Given the description of an element on the screen output the (x, y) to click on. 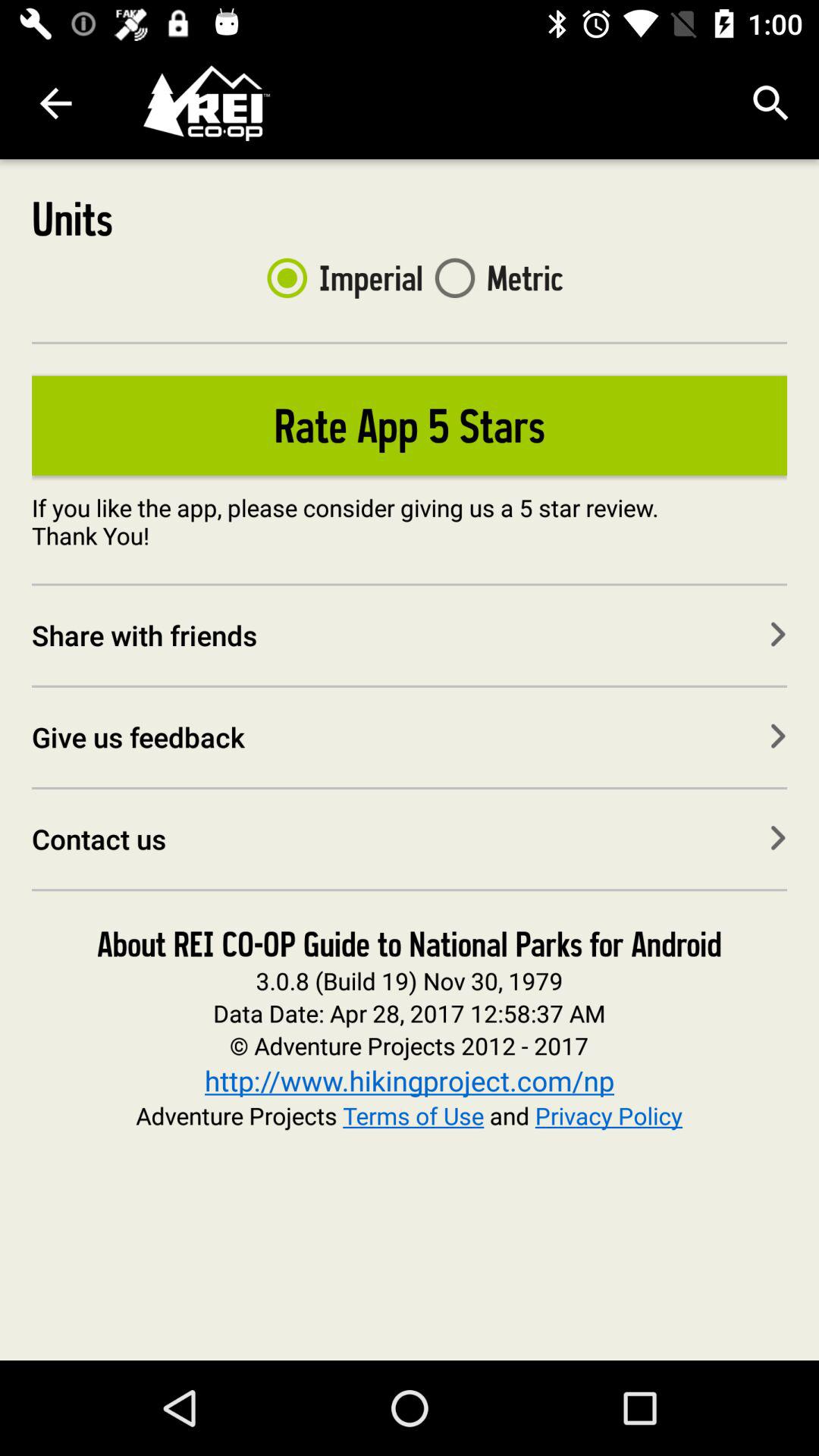
turn off the icon above the adventure projects terms item (409, 1080)
